Given the description of an element on the screen output the (x, y) to click on. 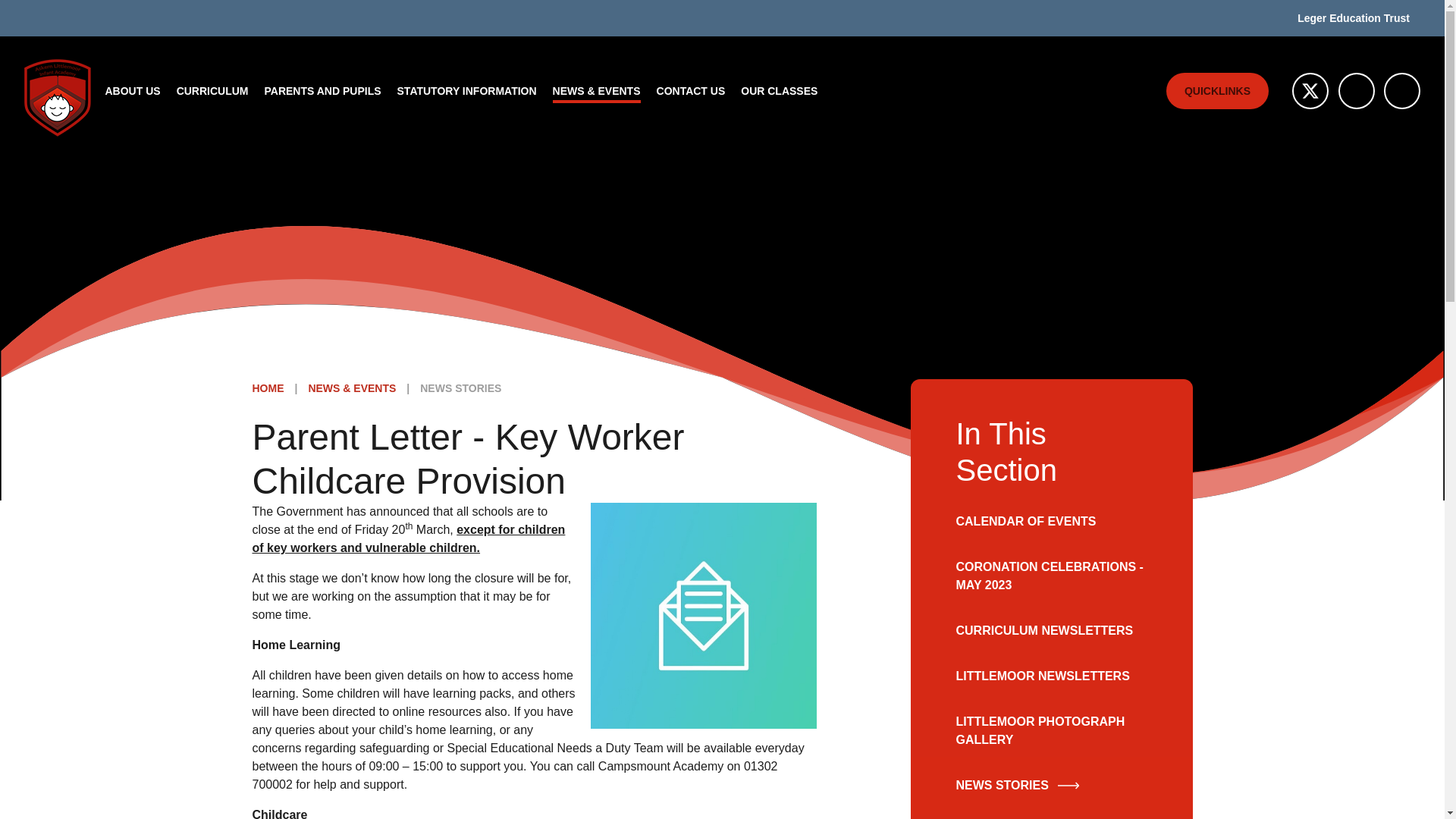
ABOUT US (132, 90)
